Given the description of an element on the screen output the (x, y) to click on. 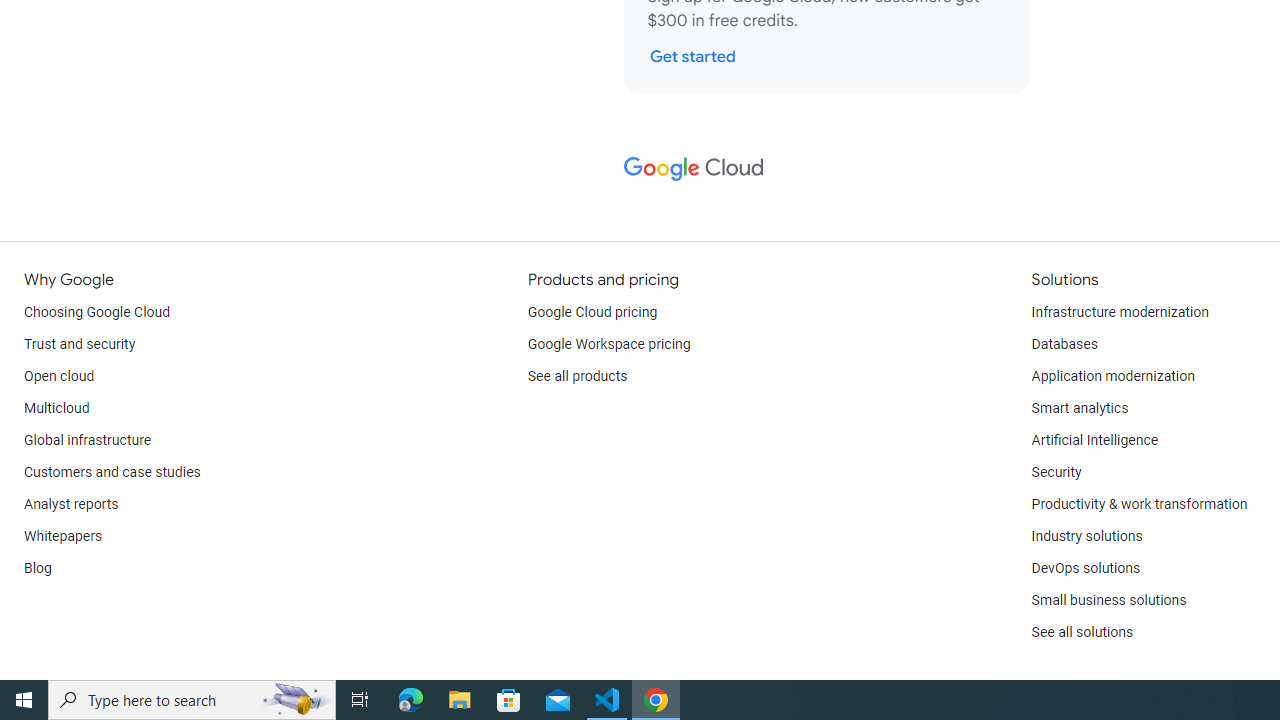
Artificial Intelligence (1094, 440)
See all products (577, 376)
Get started (692, 56)
Choosing Google Cloud (97, 312)
Google Cloud (692, 168)
See all solutions (1082, 632)
Global infrastructure (88, 440)
Analyst reports (71, 504)
Application modernization (1112, 376)
Productivity & work transformation (1139, 504)
Multicloud (56, 408)
Trust and security (79, 344)
Smart analytics (1079, 408)
Whitepapers (63, 536)
